Given the description of an element on the screen output the (x, y) to click on. 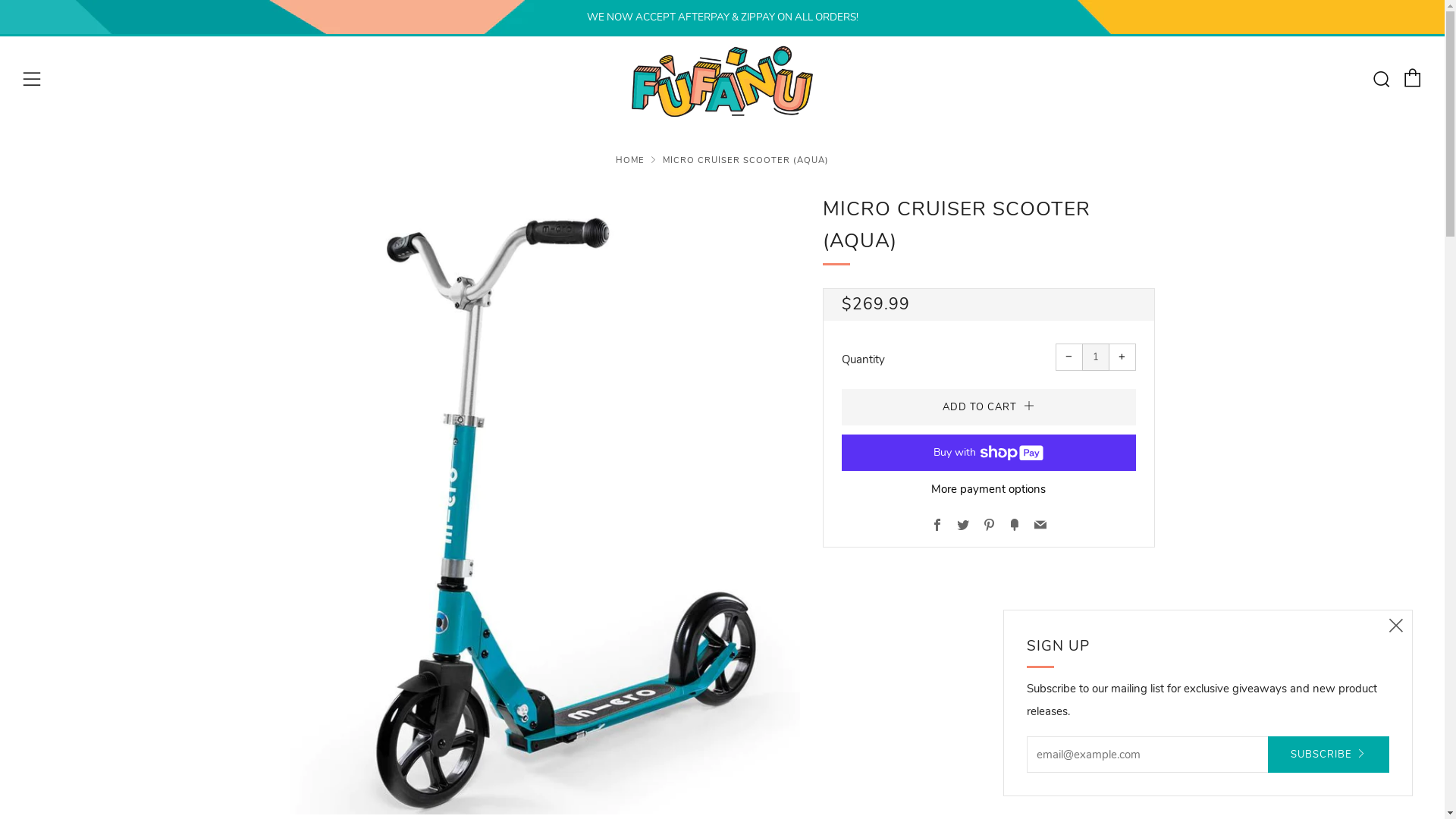
Facebook Element type: text (937, 525)
Twitter Element type: text (963, 525)
ADD TO CART Element type: text (988, 407)
Email Element type: text (1040, 525)
Pinterest Element type: text (988, 525)
More payment options Element type: text (988, 489)
Close (esc) Element type: text (1396, 626)
Cart Element type: text (1412, 78)
Menu Element type: text (31, 79)
SUBSCRIBE Element type: text (1328, 754)
+
Increase item quantity by one Element type: text (1121, 356)
Search Element type: text (1380, 78)
Fancy Element type: text (1014, 525)
HOME Element type: text (629, 160)
